Given the description of an element on the screen output the (x, y) to click on. 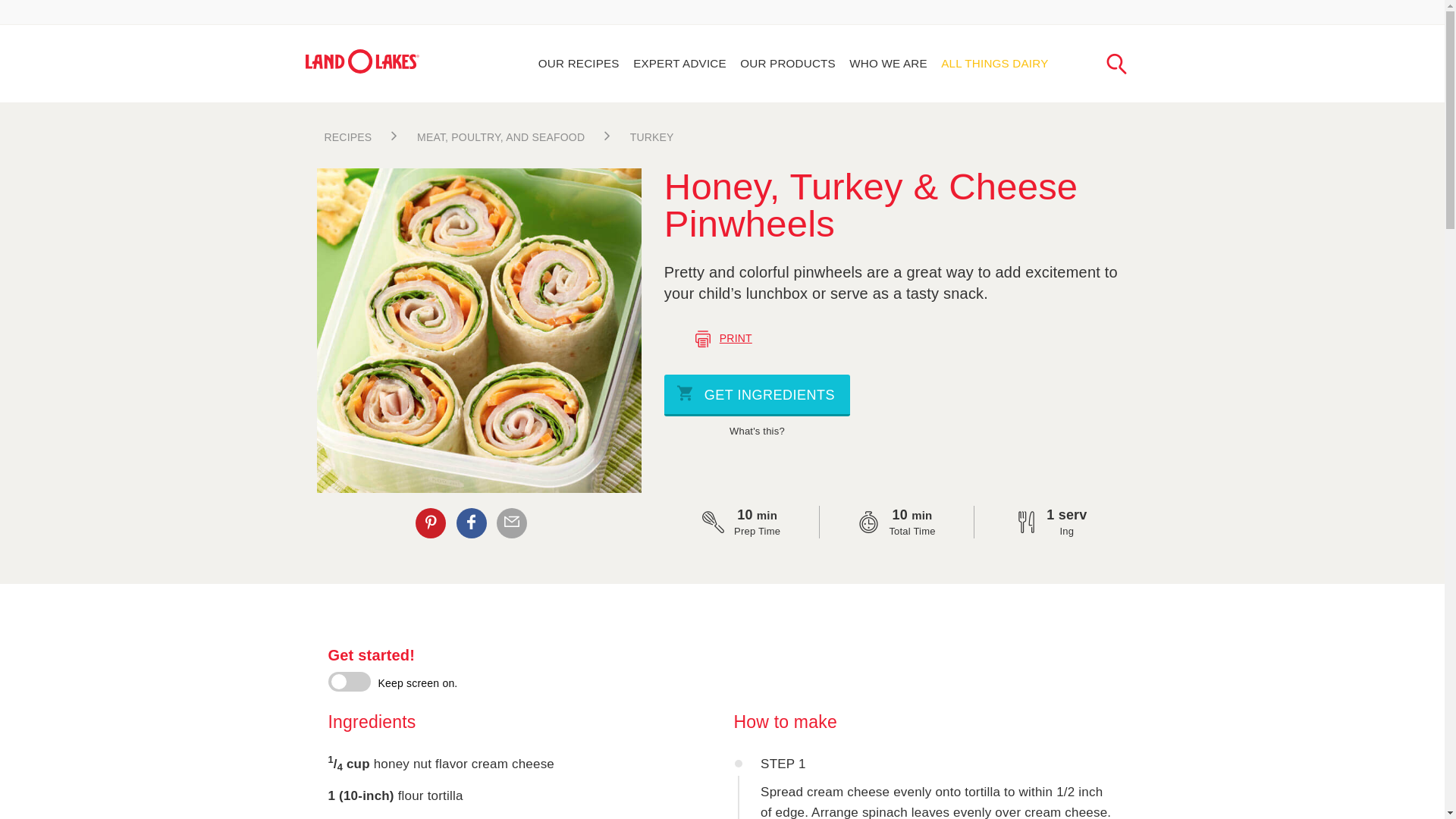
OUR RECIPES (575, 63)
EXPERT ADVICE (676, 63)
SEARCH (1118, 62)
WHO WE ARE (885, 63)
Land O'Lakes Logo (361, 61)
Search Land O'Lakes (1118, 62)
ALL THINGS DAIRY (994, 63)
OUR PRODUCTS (785, 63)
